Given the description of an element on the screen output the (x, y) to click on. 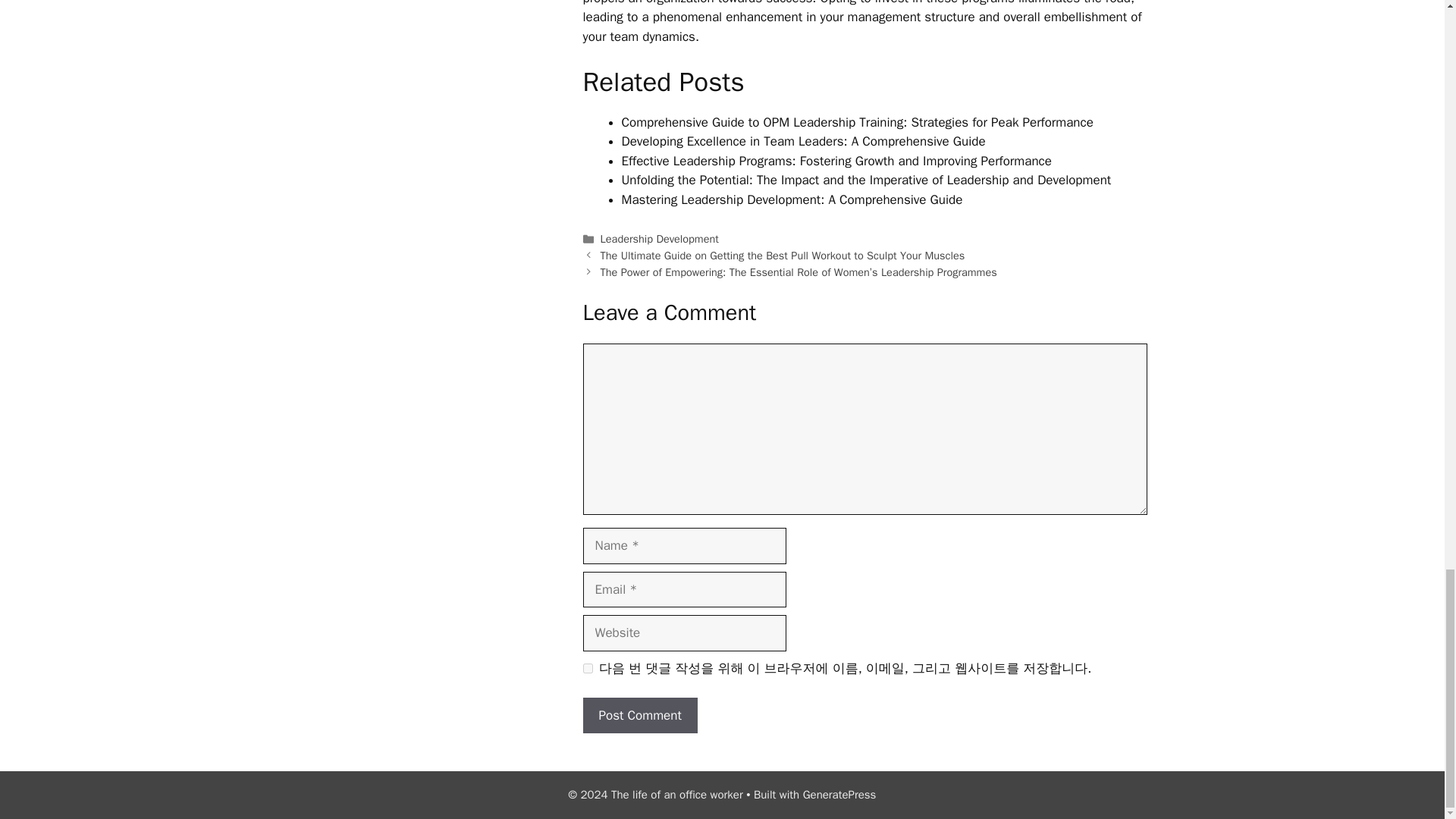
Post Comment (639, 715)
Developing Excellence in Team Leaders: A Comprehensive Guide (803, 141)
Mastering Leadership Development: A Comprehensive Guide (791, 199)
yes (587, 668)
Leadership Development (659, 238)
Post Comment (639, 715)
